Given the description of an element on the screen output the (x, y) to click on. 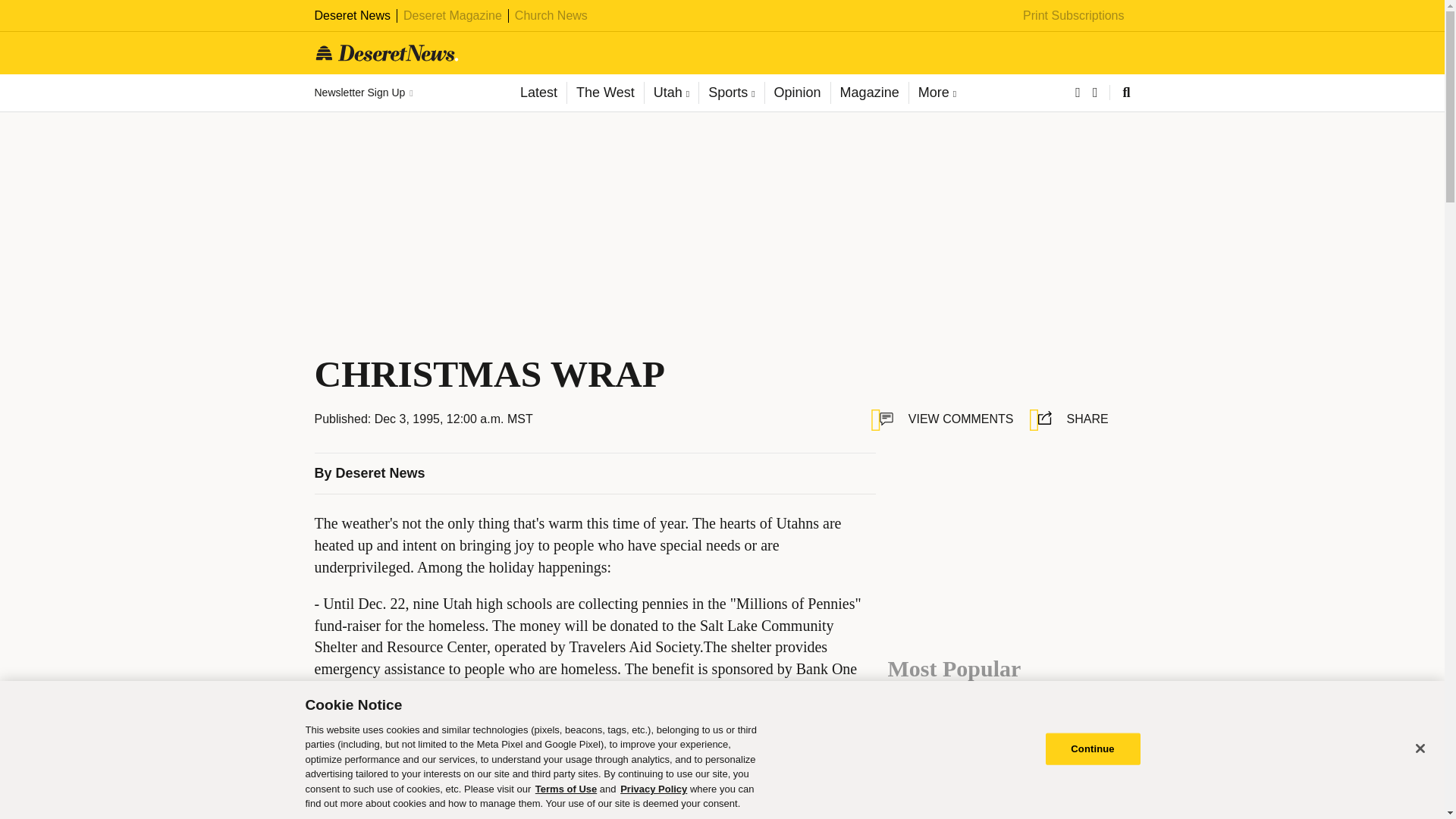
Newsletter Sign Up (363, 92)
Latest (538, 92)
Deseret Magazine (452, 15)
Church News (551, 15)
Opinion (796, 92)
Sports (730, 92)
The West (604, 92)
Magazine (868, 92)
Utah (670, 92)
Deseret News (352, 15)
